Given the description of an element on the screen output the (x, y) to click on. 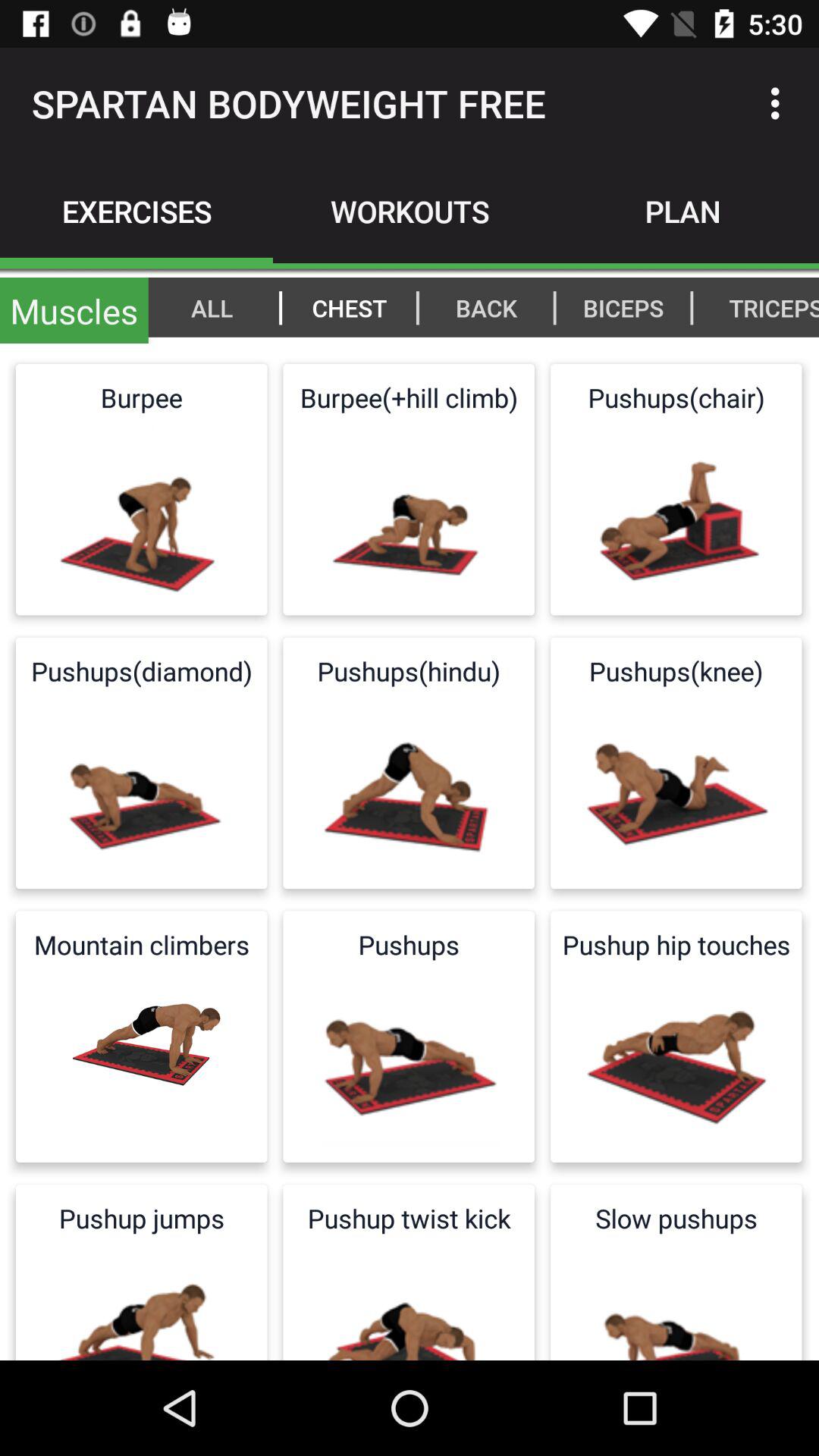
choose icon to the right of | (765, 307)
